Given the description of an element on the screen output the (x, y) to click on. 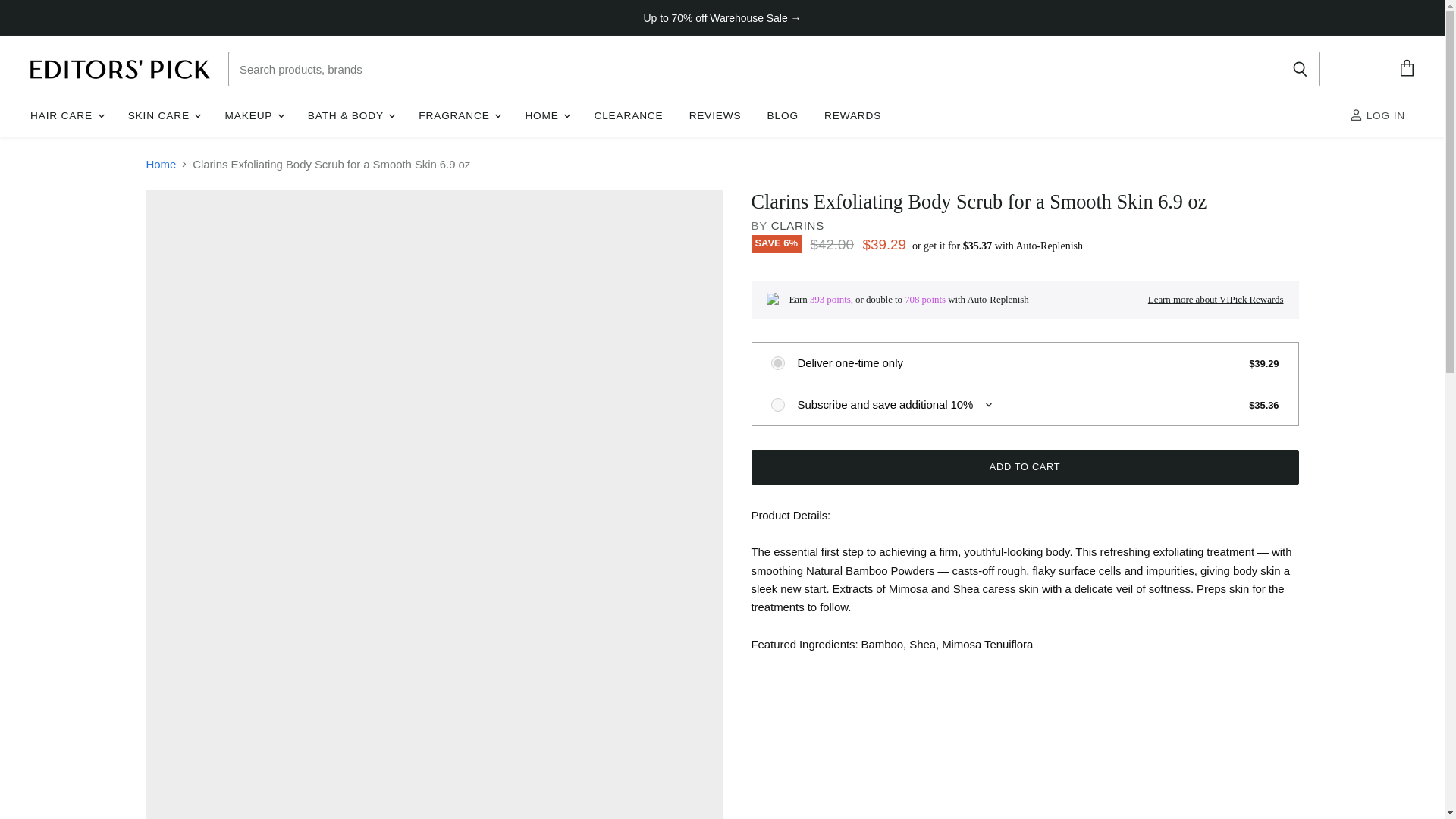
HAIR CARE (65, 115)
ACCOUNT ICON (1355, 114)
on (777, 363)
SKIN CARE (163, 115)
Clarins (797, 225)
on (777, 404)
